Given the description of an element on the screen output the (x, y) to click on. 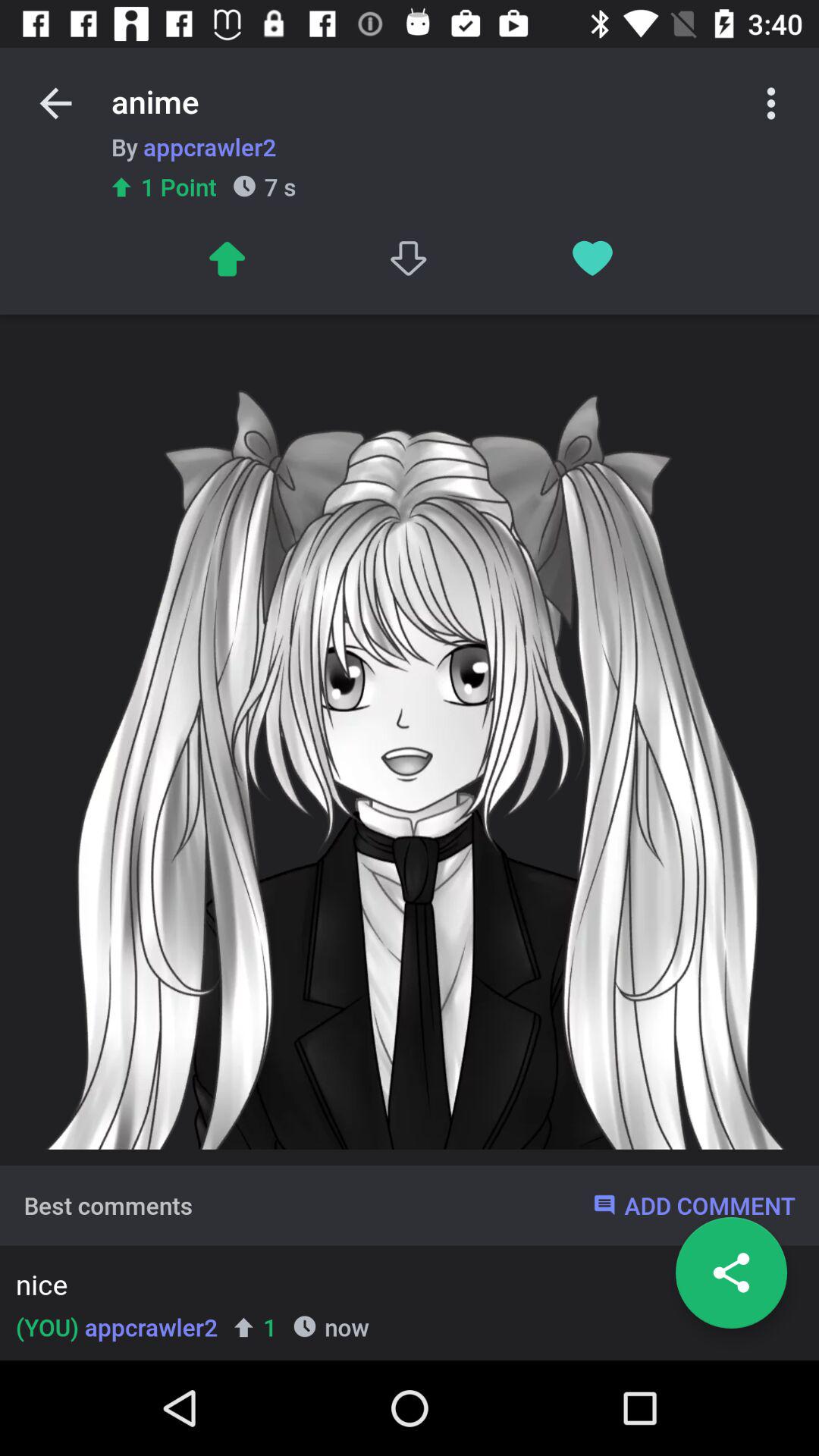
scroll until the add comment (693, 1205)
